Given the description of an element on the screen output the (x, y) to click on. 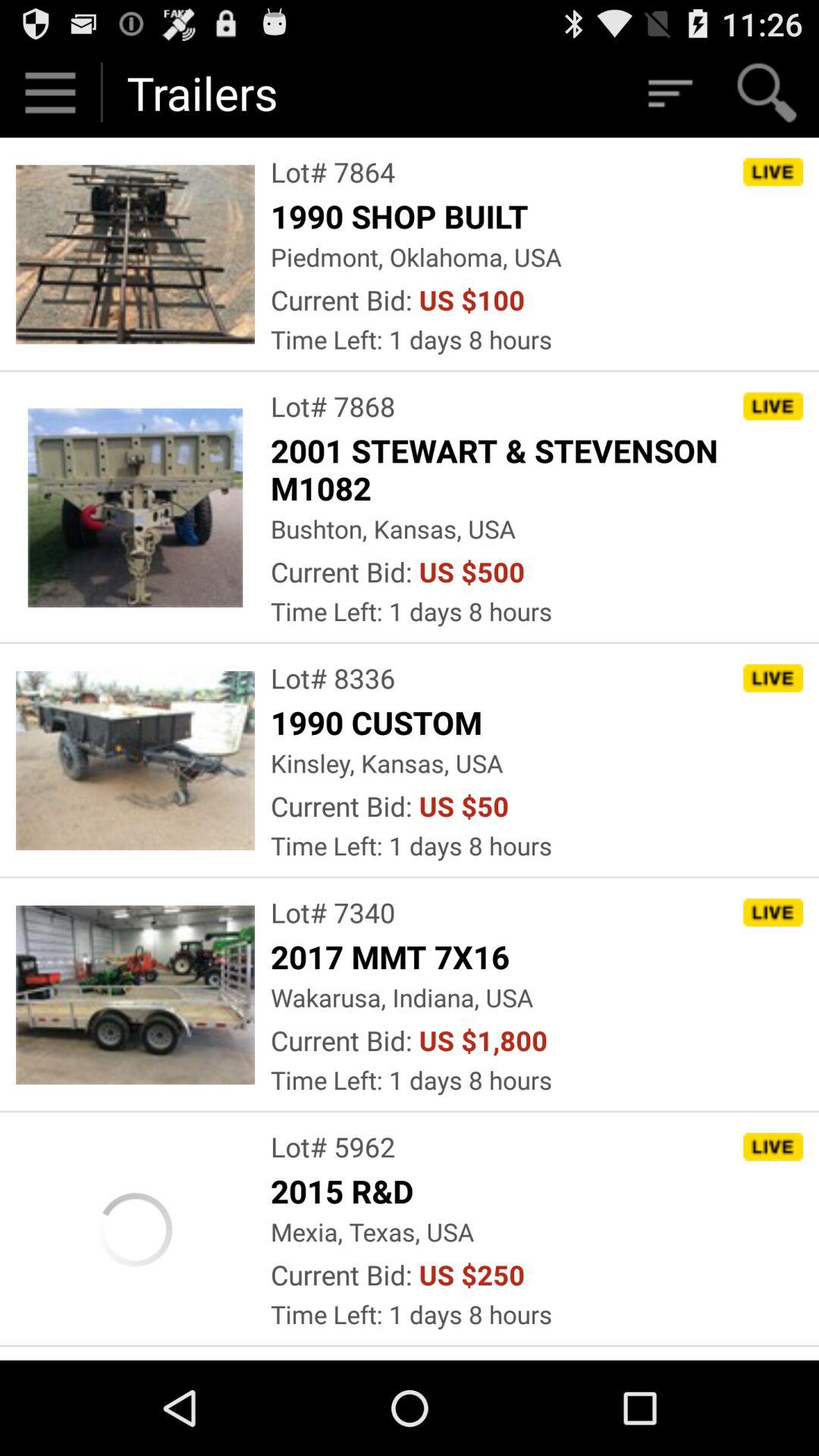
turn on the item above mexia, texas, usa item (345, 1190)
